Given the description of an element on the screen output the (x, y) to click on. 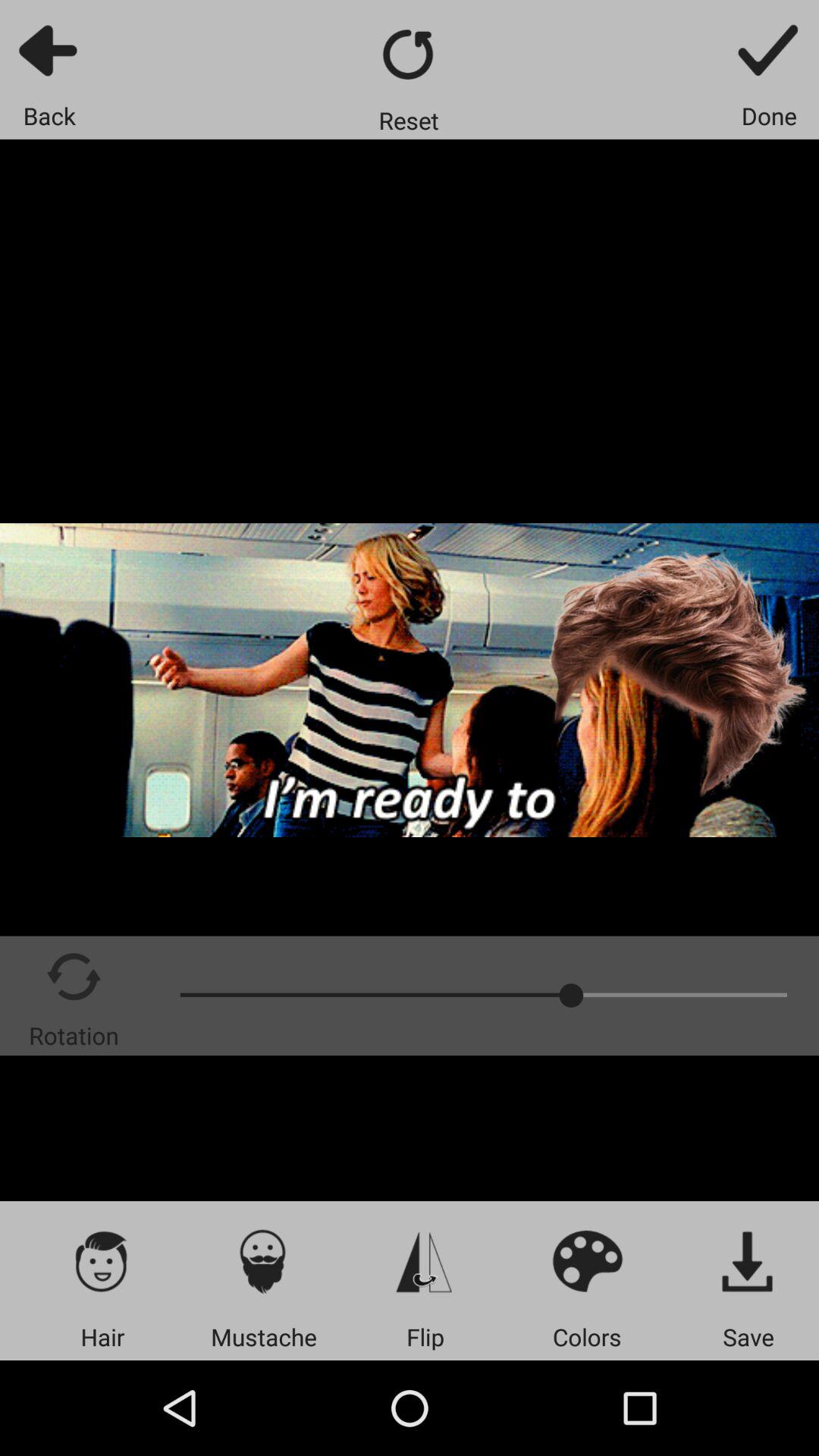
pick image (102, 1260)
